Given the description of an element on the screen output the (x, y) to click on. 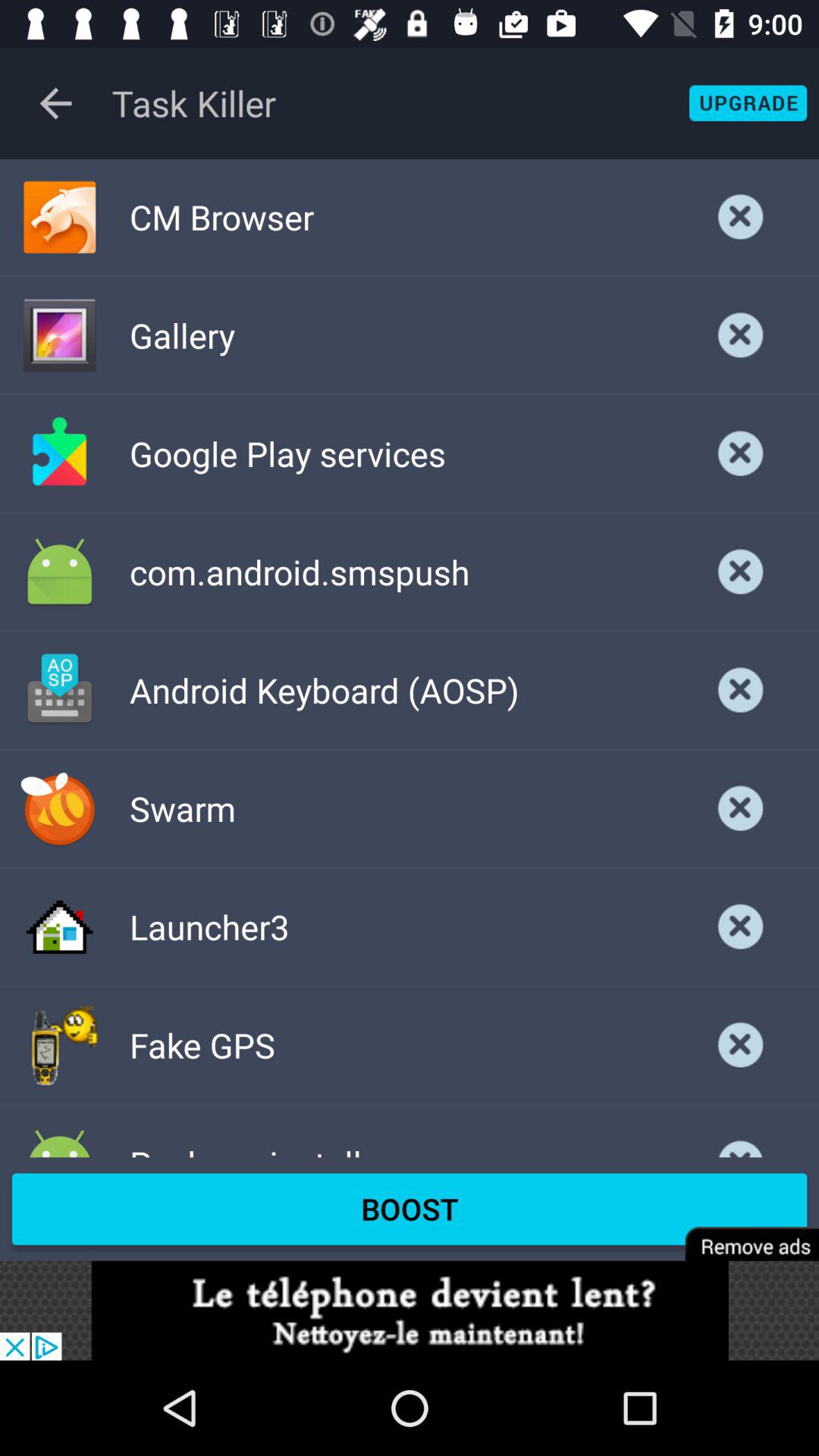
end task x button (740, 1045)
